Given the description of an element on the screen output the (x, y) to click on. 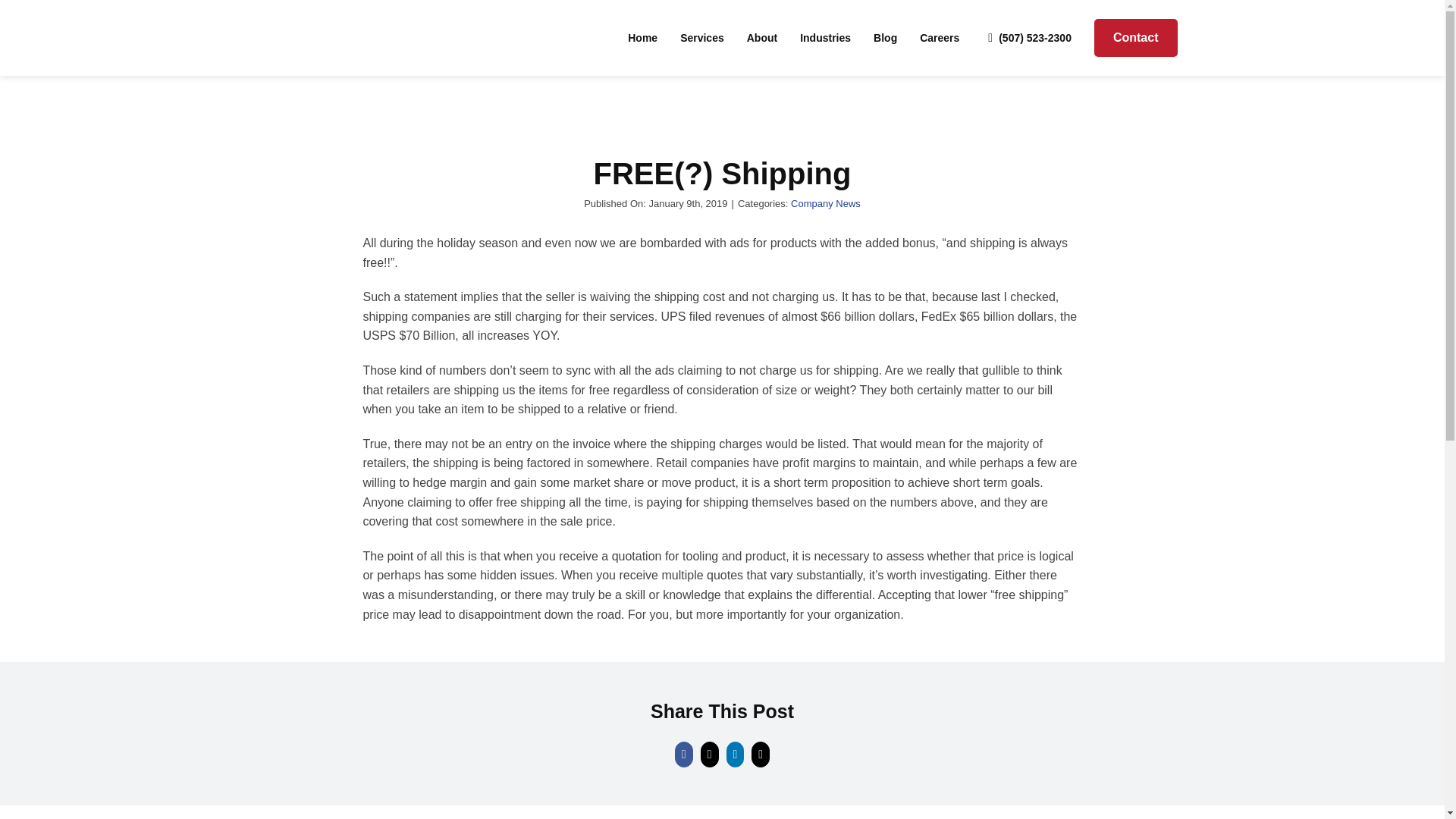
Careers (939, 37)
Industries (824, 37)
Services (701, 37)
Company News (825, 202)
Contact (1135, 37)
